Given the description of an element on the screen output the (x, y) to click on. 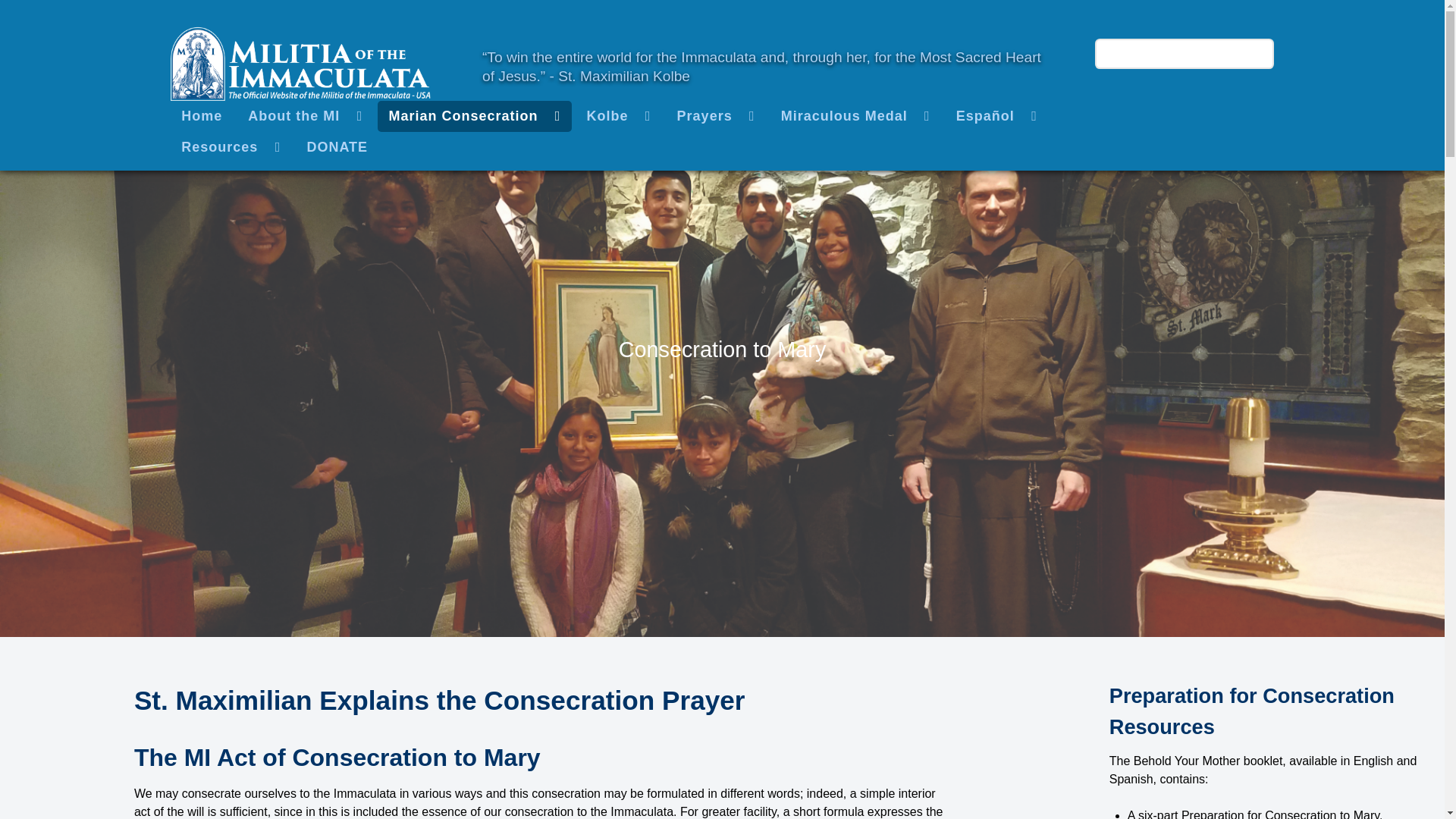
Home (201, 115)
Search for: (1184, 53)
Koleti (299, 61)
